Given the description of an element on the screen output the (x, y) to click on. 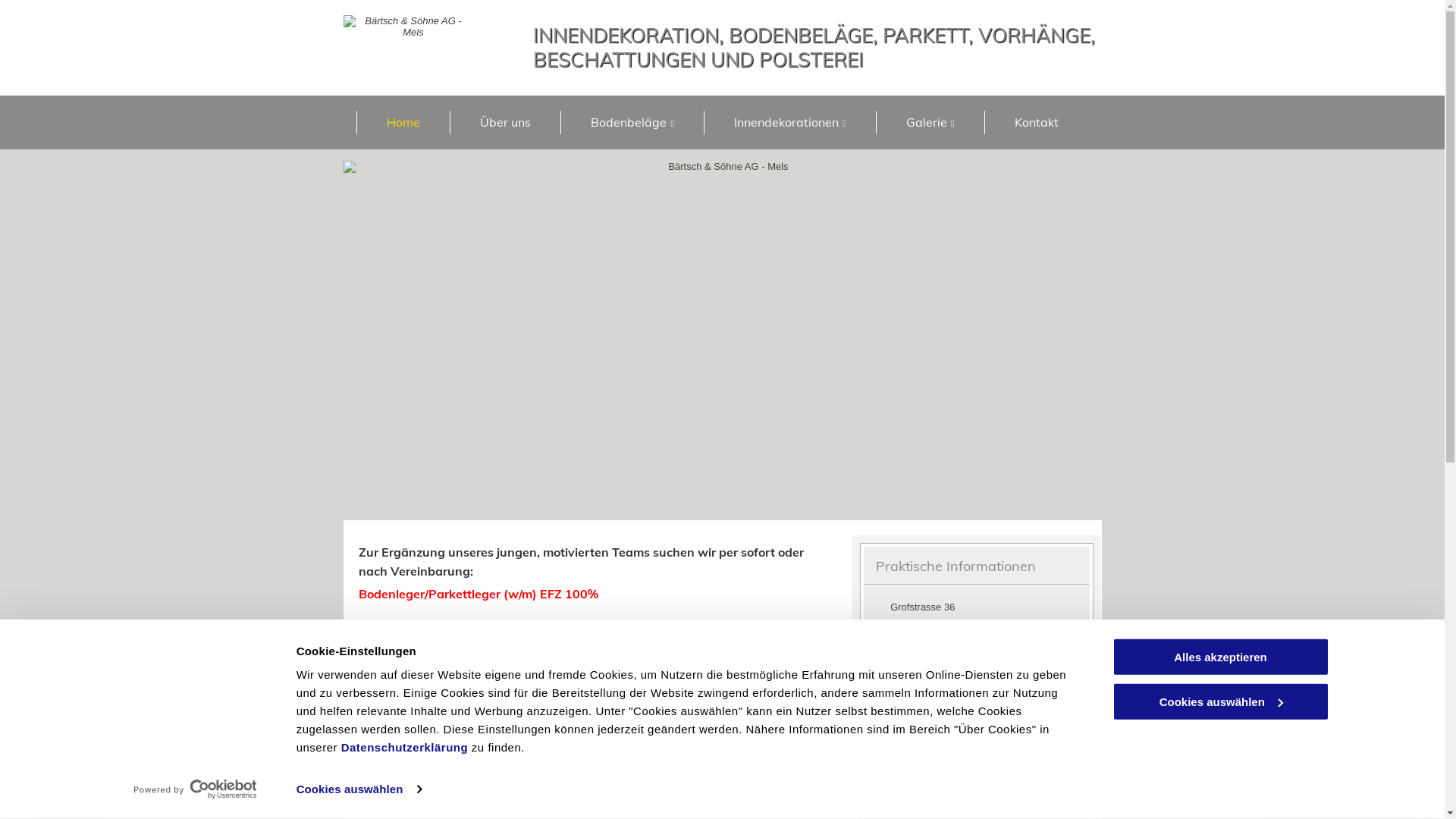
Kontaktaufnahme Element type: text (648, 735)
Innendekorationen Element type: text (789, 122)
Kontakt Element type: text (1036, 122)
info@baertsch-soehne.ch Element type: text (919, 715)
081 723 48 15 Element type: text (930, 647)
Home Element type: text (402, 122)
Alles akzeptieren Element type: text (1219, 656)
Galerie Element type: text (929, 122)
Bodenleger/Parkettleger (w/m) EFZ 100% Element type: text (477, 593)
079 423 12 71 Element type: text (930, 695)
079 423 12 70 Element type: text (930, 671)
